Given the description of an element on the screen output the (x, y) to click on. 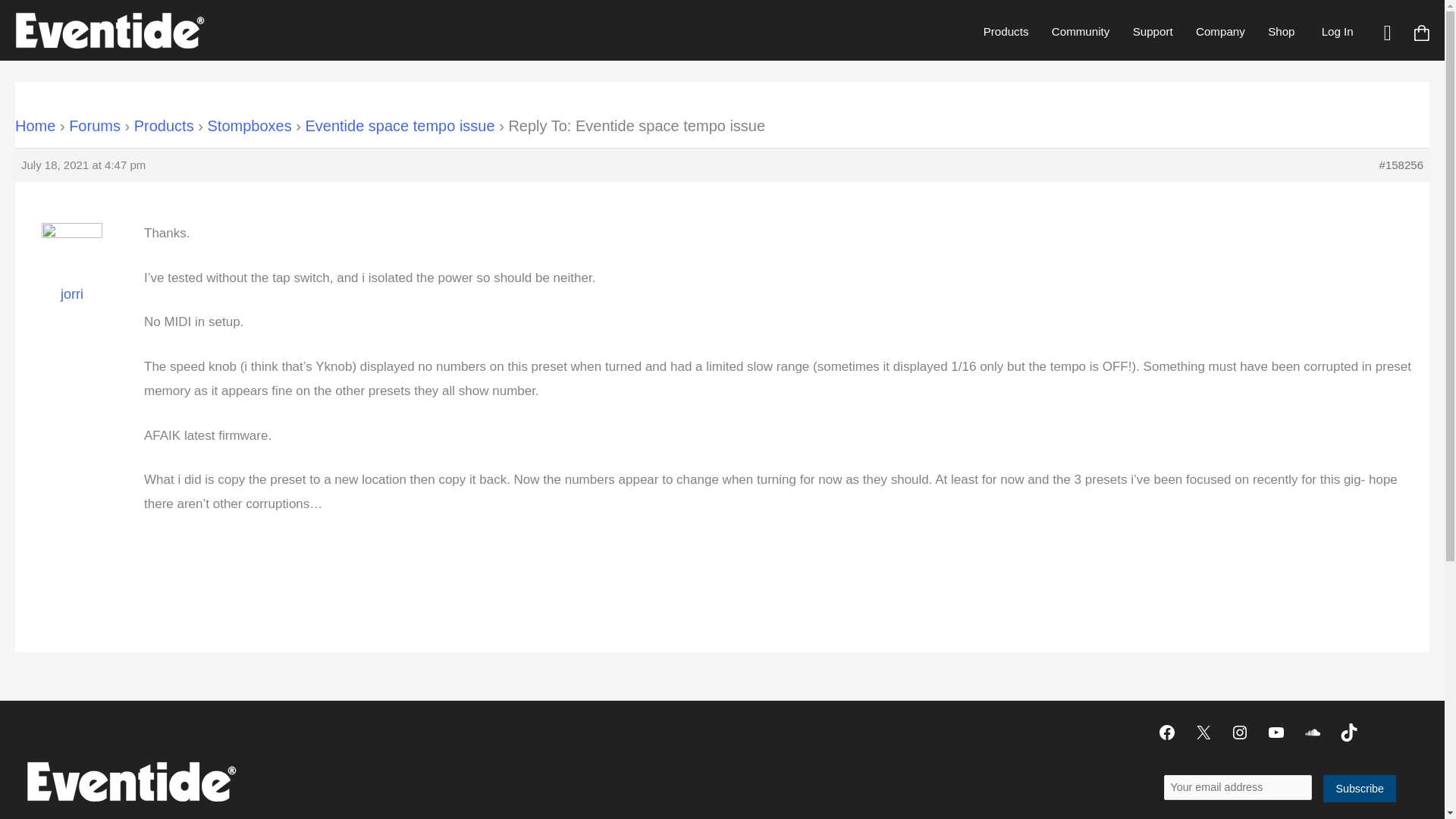
Community (1081, 31)
eventide-logo-white (130, 780)
Shop (1281, 31)
Products (1006, 31)
View jorri's profile (71, 273)
Subscribe (1359, 788)
Log In (1337, 31)
Support (1152, 31)
Company (1220, 31)
